Given the description of an element on the screen output the (x, y) to click on. 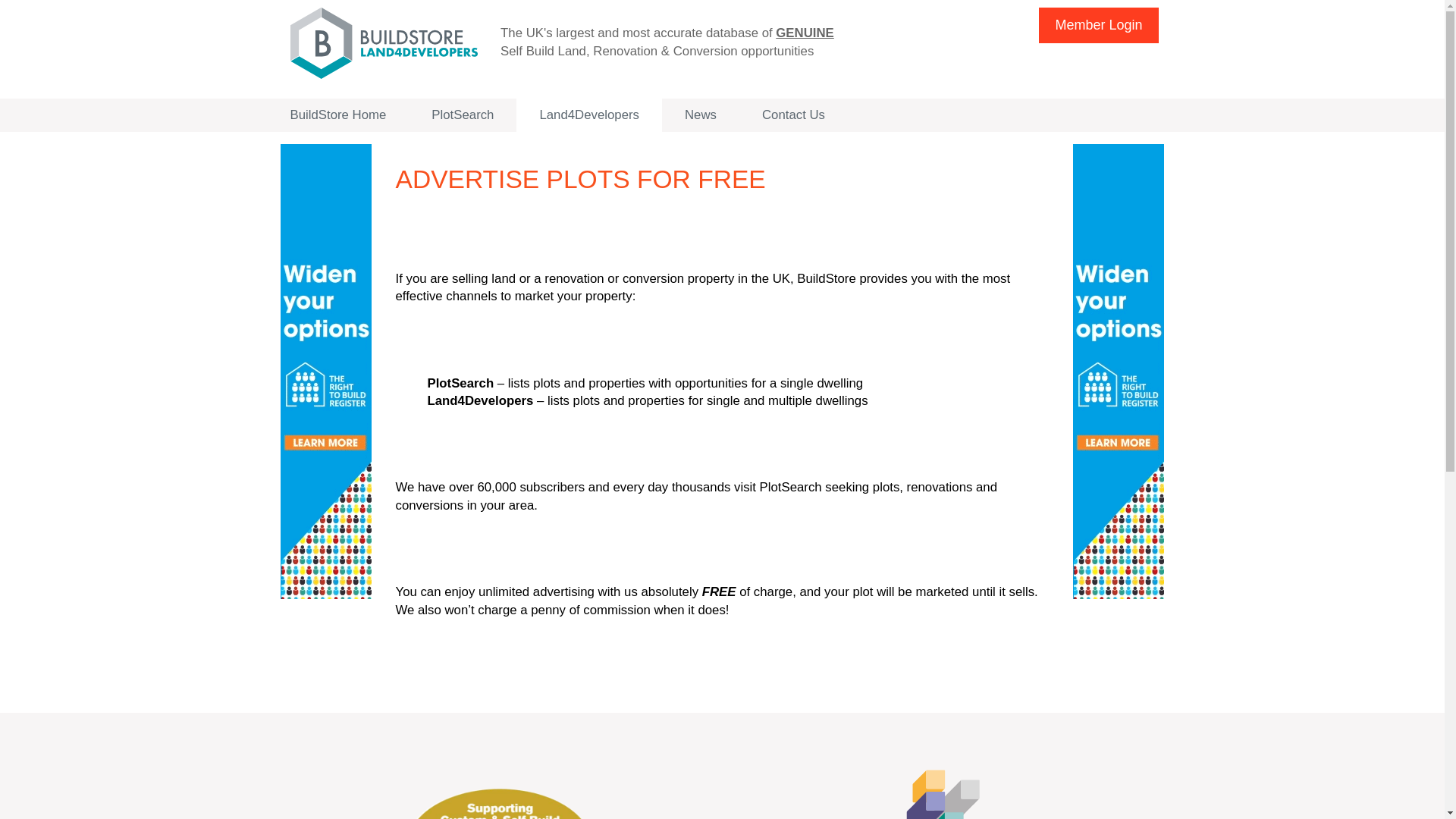
Contact Us (793, 114)
BuildStore Home (337, 114)
Land4Developers (589, 114)
PlotSearch (462, 114)
News (700, 114)
Member Login (1098, 25)
